Given the description of an element on the screen output the (x, y) to click on. 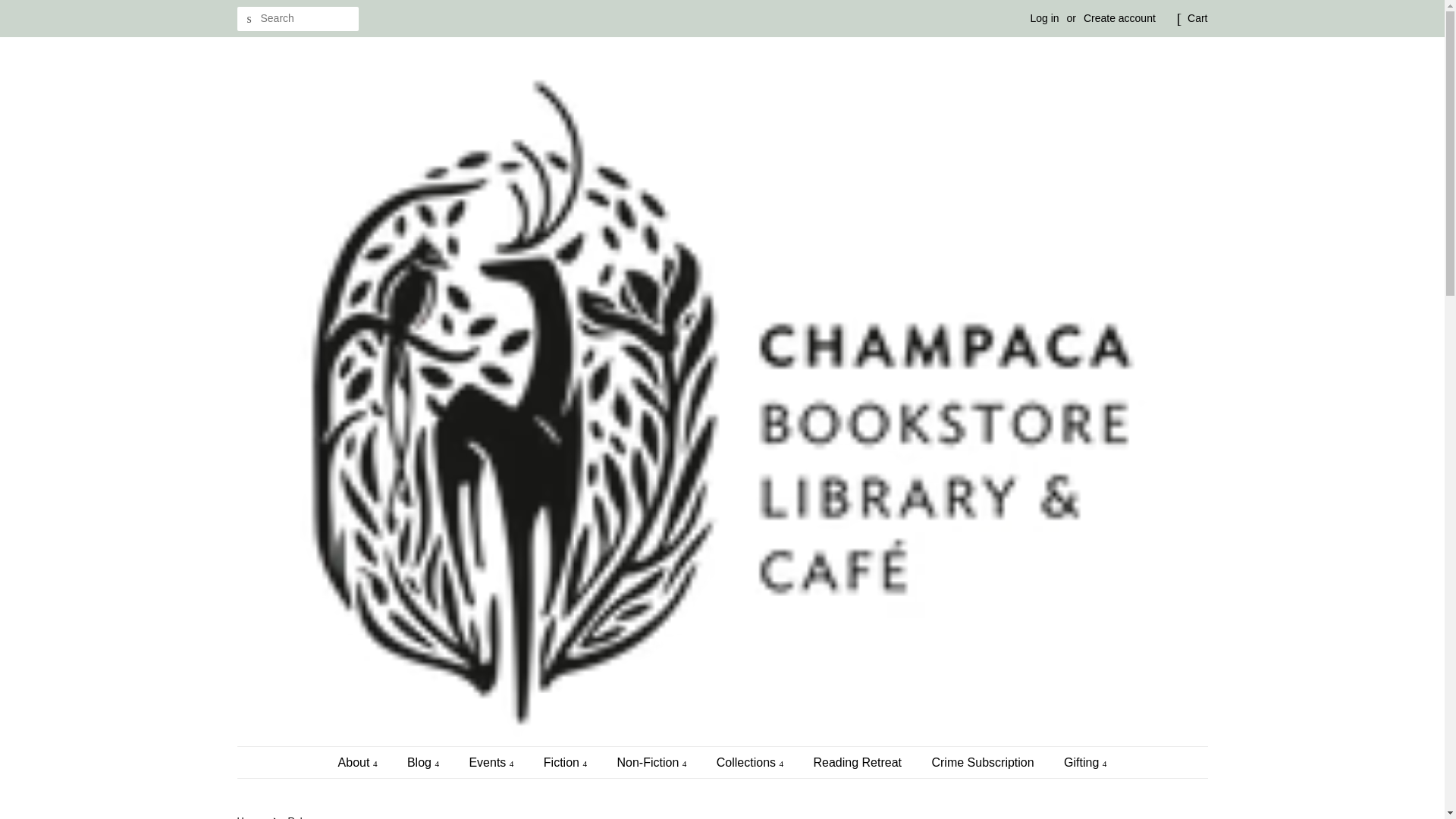
Back to the frontpage (250, 816)
Search (247, 18)
Log in (1043, 18)
Cart (1197, 18)
Create account (1119, 18)
